Given the description of an element on the screen output the (x, y) to click on. 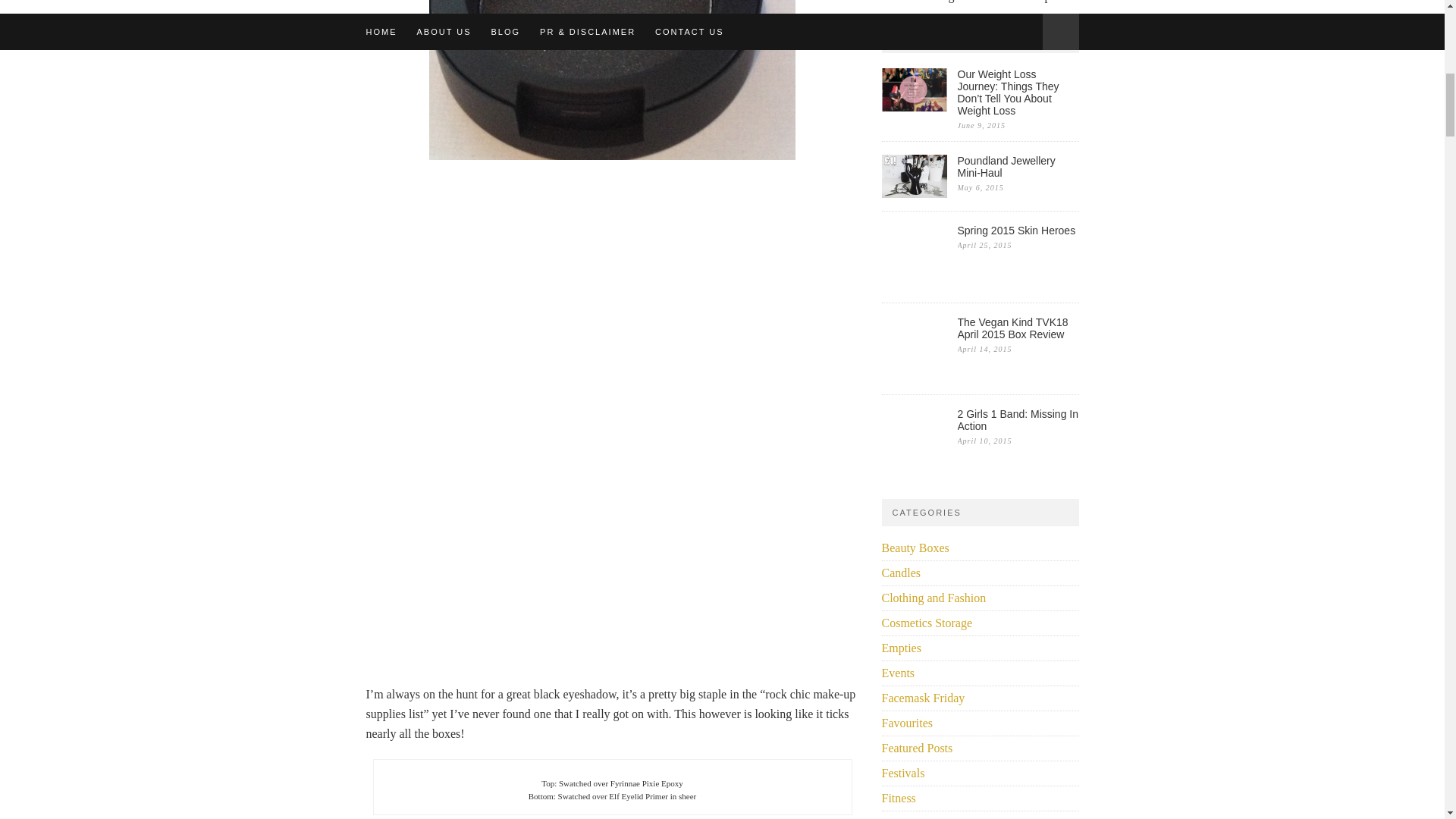
Permanent Link: Poundland Jewellery Mini-Haul (913, 193)
Permanent Link: Poundland Jewellery Mini-Haul (1017, 166)
